Given the description of an element on the screen output the (x, y) to click on. 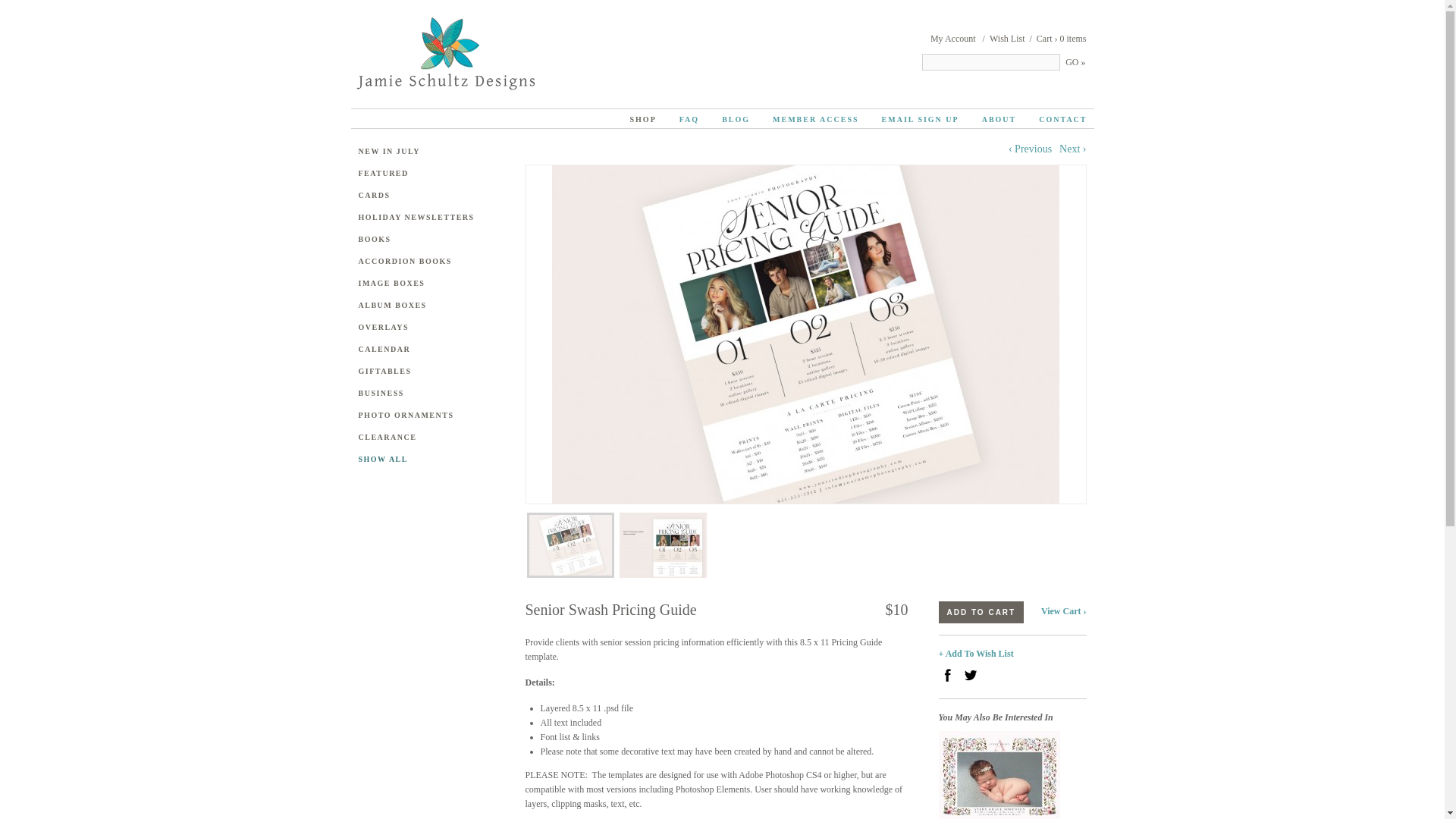
FAQ (689, 117)
NEW IN JULY (430, 151)
CALENDAR (430, 349)
SHOP (643, 117)
EMAIL SIGN UP (920, 117)
GIFTABLES (430, 370)
OVERLAYS (430, 327)
PHOTO ORNAMENTS (430, 414)
HOLIDAY NEWSLETTERS (430, 216)
ABOUT (999, 117)
BOOKS (430, 238)
ALBUM BOXES (430, 305)
ACCORDION BOOKS (430, 260)
Wish List (1007, 38)
SHOW ALL (430, 459)
